Given the description of an element on the screen output the (x, y) to click on. 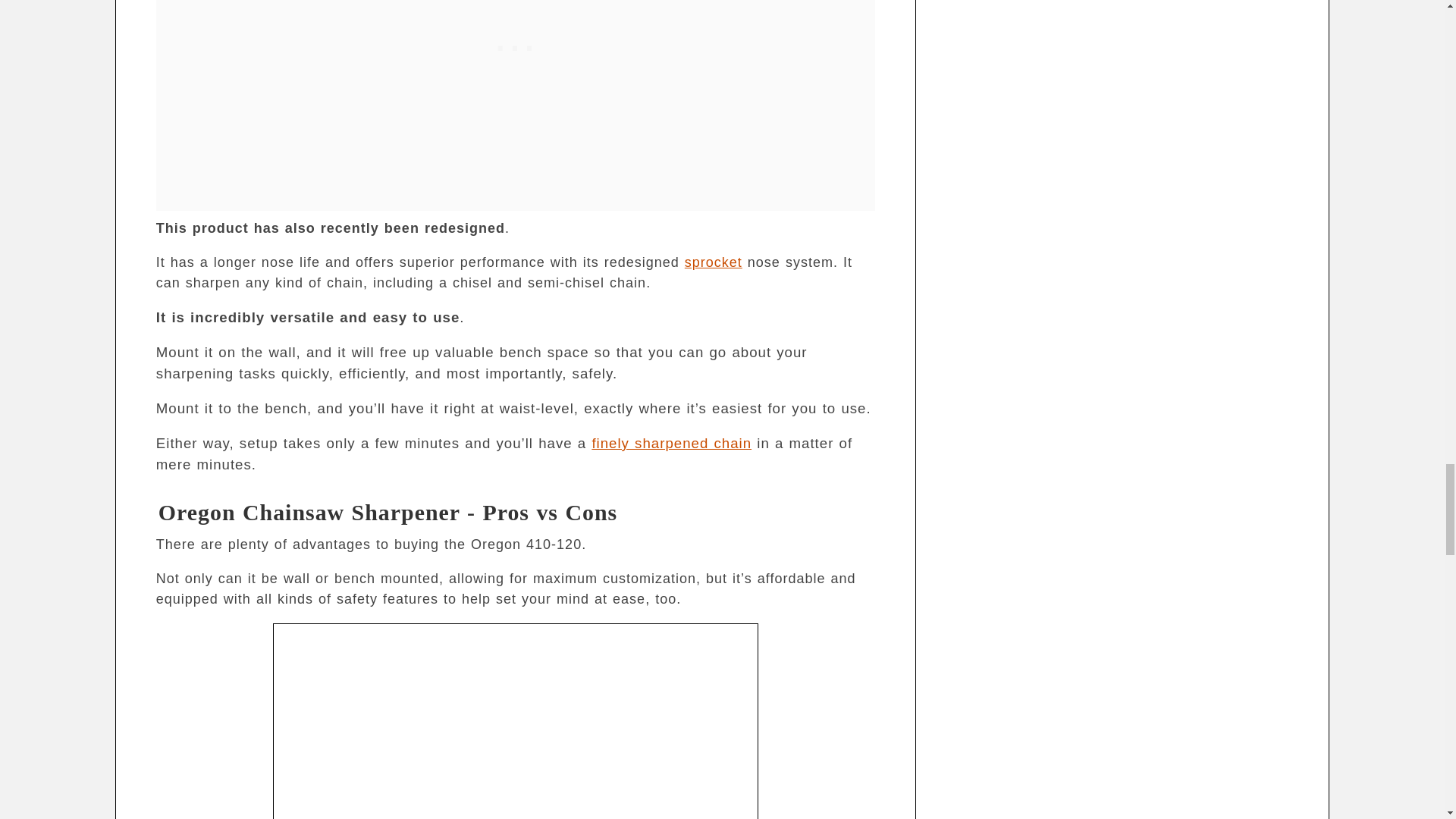
sprocket (713, 262)
